Given the description of an element on the screen output the (x, y) to click on. 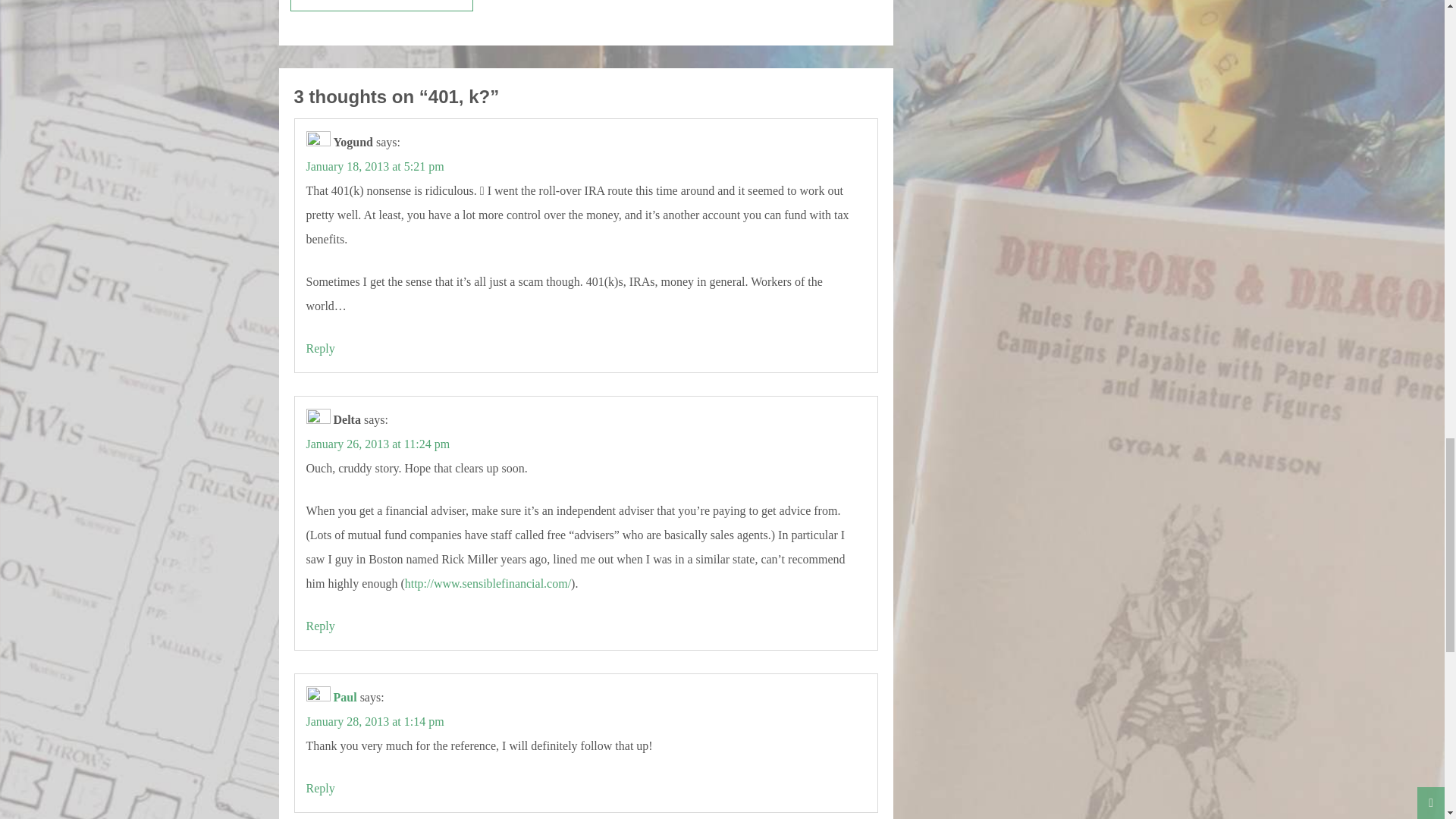
January 28, 2013 at 1:14 pm (374, 721)
Reply (319, 625)
January 26, 2013 at 11:24 pm (377, 443)
Reply (319, 348)
January 18, 2013 at 5:21 pm (374, 165)
Reply (319, 788)
Paul (344, 697)
